Given the description of an element on the screen output the (x, y) to click on. 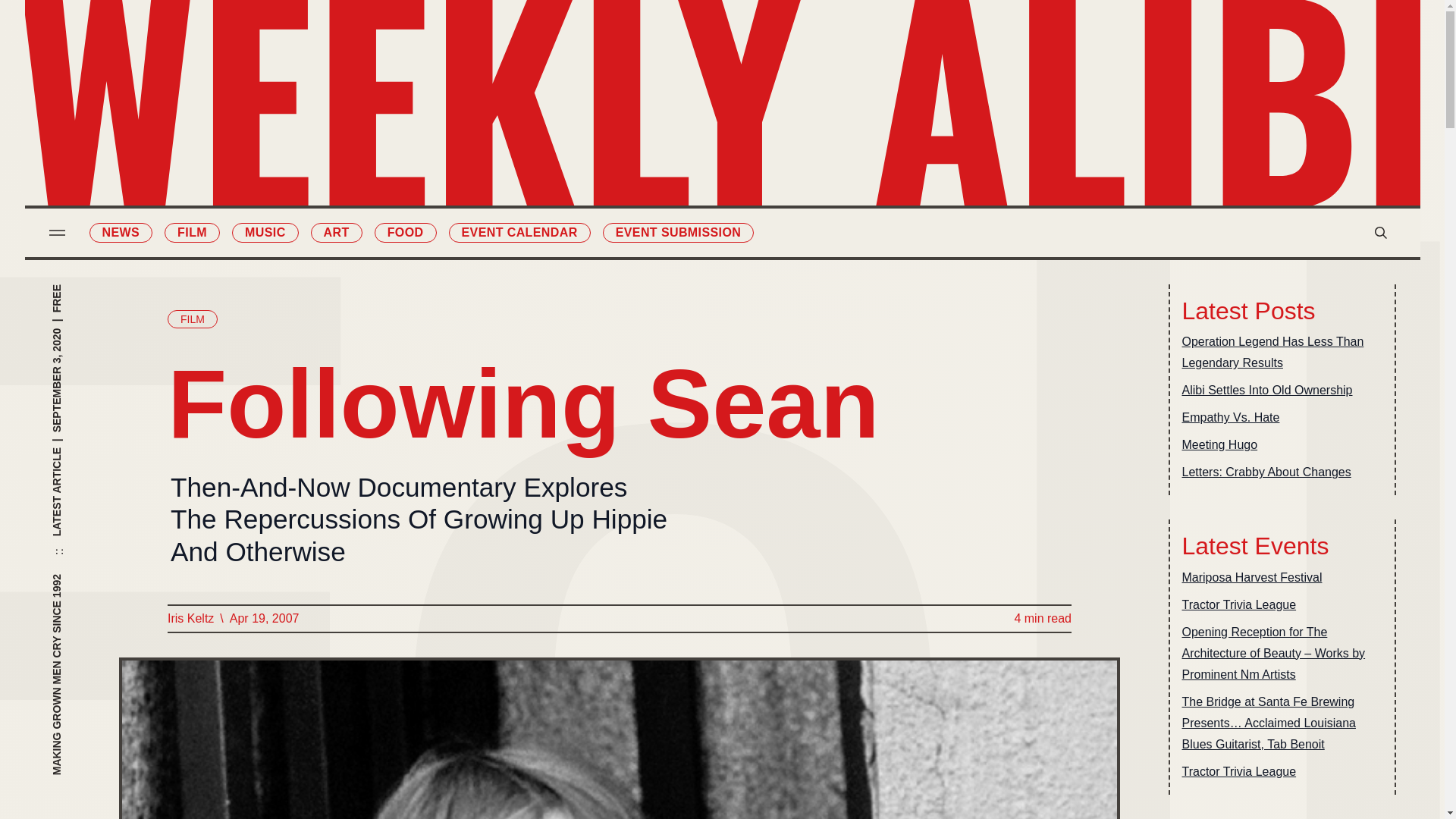
FOOD (405, 232)
MUSIC (264, 232)
Iris Keltz (189, 618)
NEWS (120, 232)
EVENT SUBMISSION (678, 232)
EVENT CALENDAR (519, 232)
FILM (191, 232)
ART (336, 232)
FILM (191, 319)
